Given the description of an element on the screen output the (x, y) to click on. 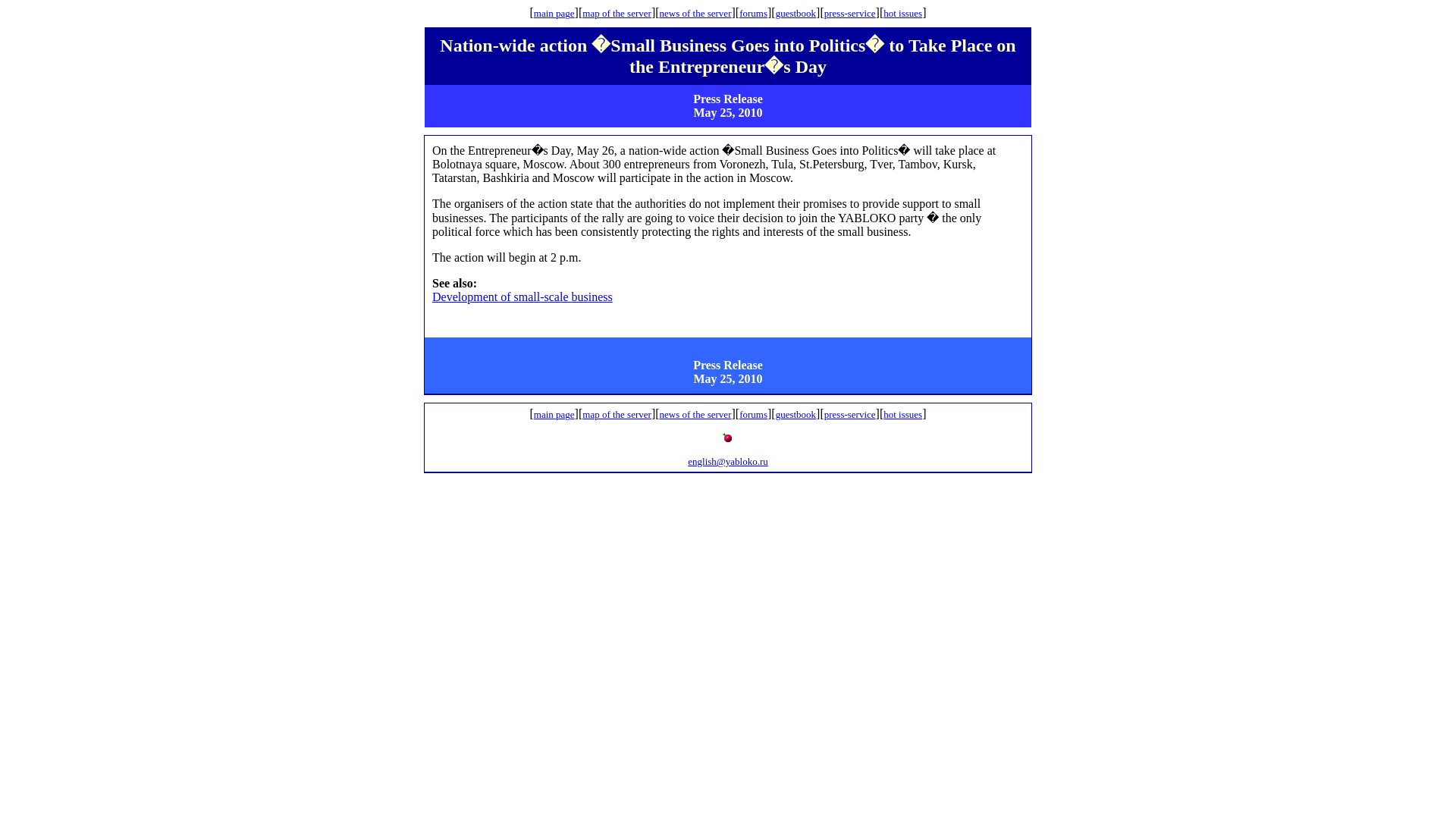
of the server (626, 12)
hot issues (902, 11)
main page (554, 13)
map (592, 12)
forums (753, 414)
news of the server (695, 414)
guestbook (795, 12)
news of the server (695, 12)
map (592, 414)
press-service (850, 12)
